Given the description of an element on the screen output the (x, y) to click on. 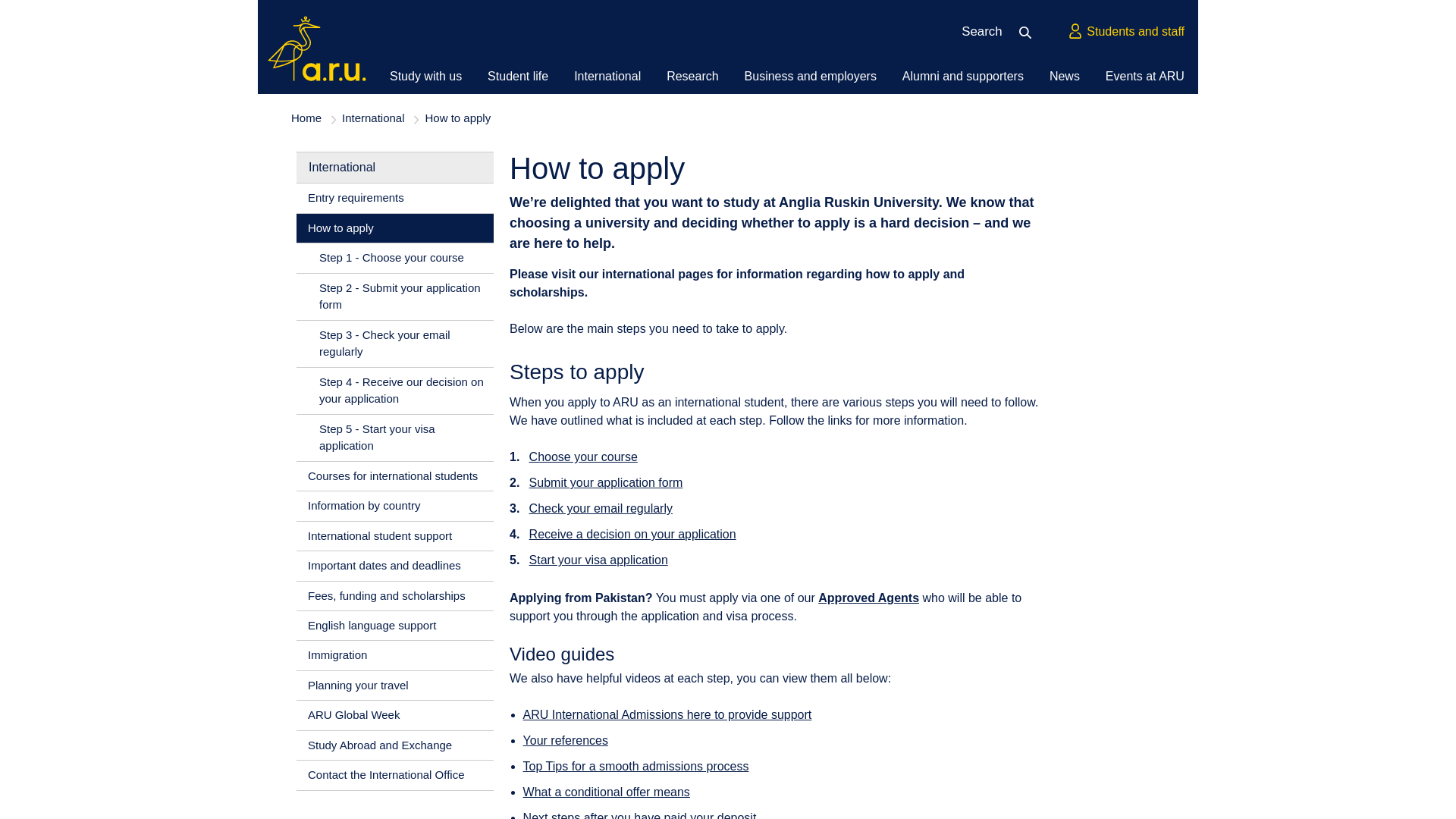
Study with us (425, 76)
Search the Anglia Ruskin website (1029, 31)
Students and staff (1126, 31)
Student life (518, 76)
